Given the description of an element on the screen output the (x, y) to click on. 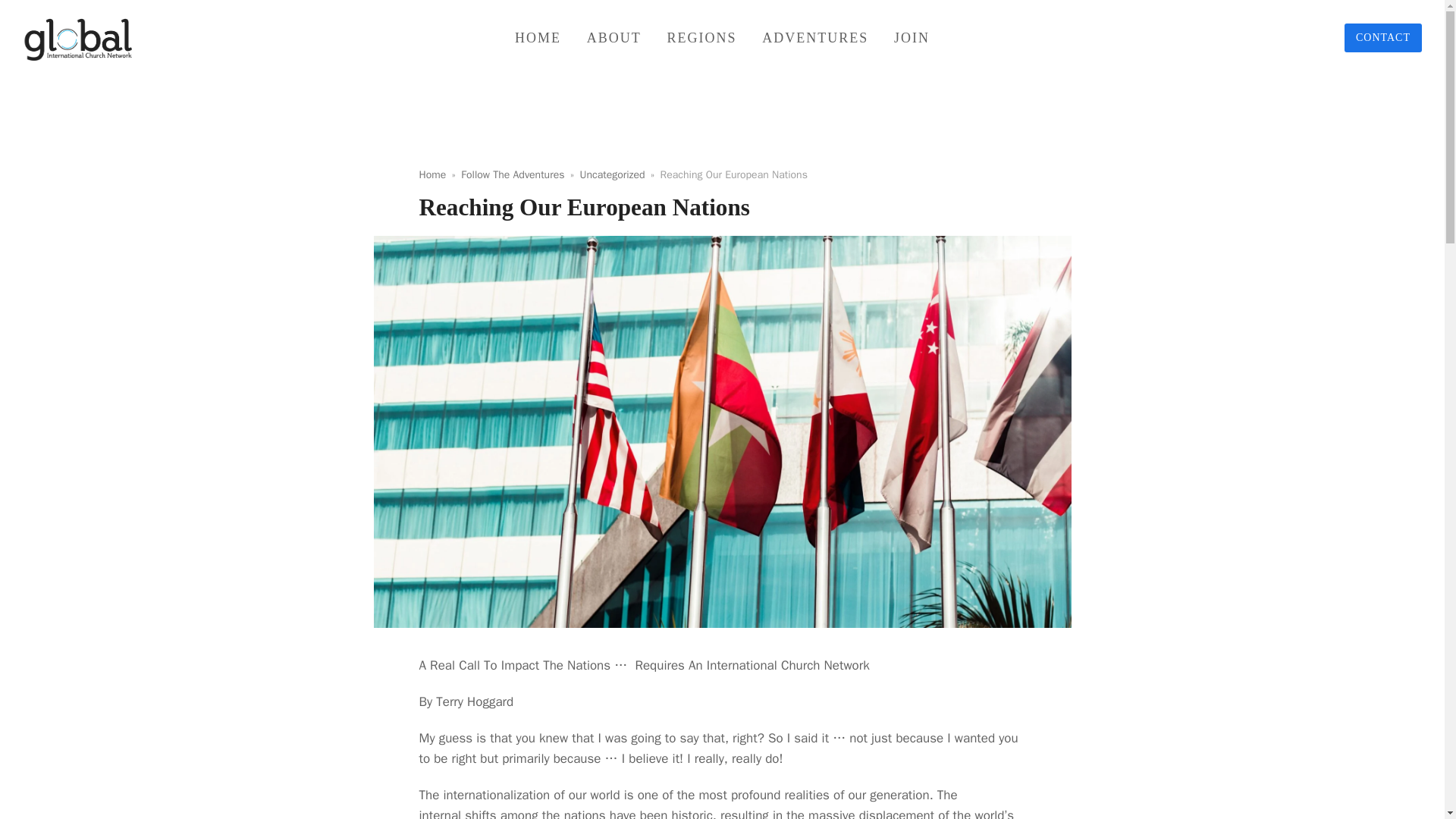
Home (432, 174)
HOME (537, 37)
Follow The Adventures (512, 174)
ADVENTURES (814, 37)
JOIN (911, 37)
CONTACT (1382, 37)
ABOUT (613, 37)
Uncategorized (612, 174)
REGIONS (701, 37)
